Given the description of an element on the screen output the (x, y) to click on. 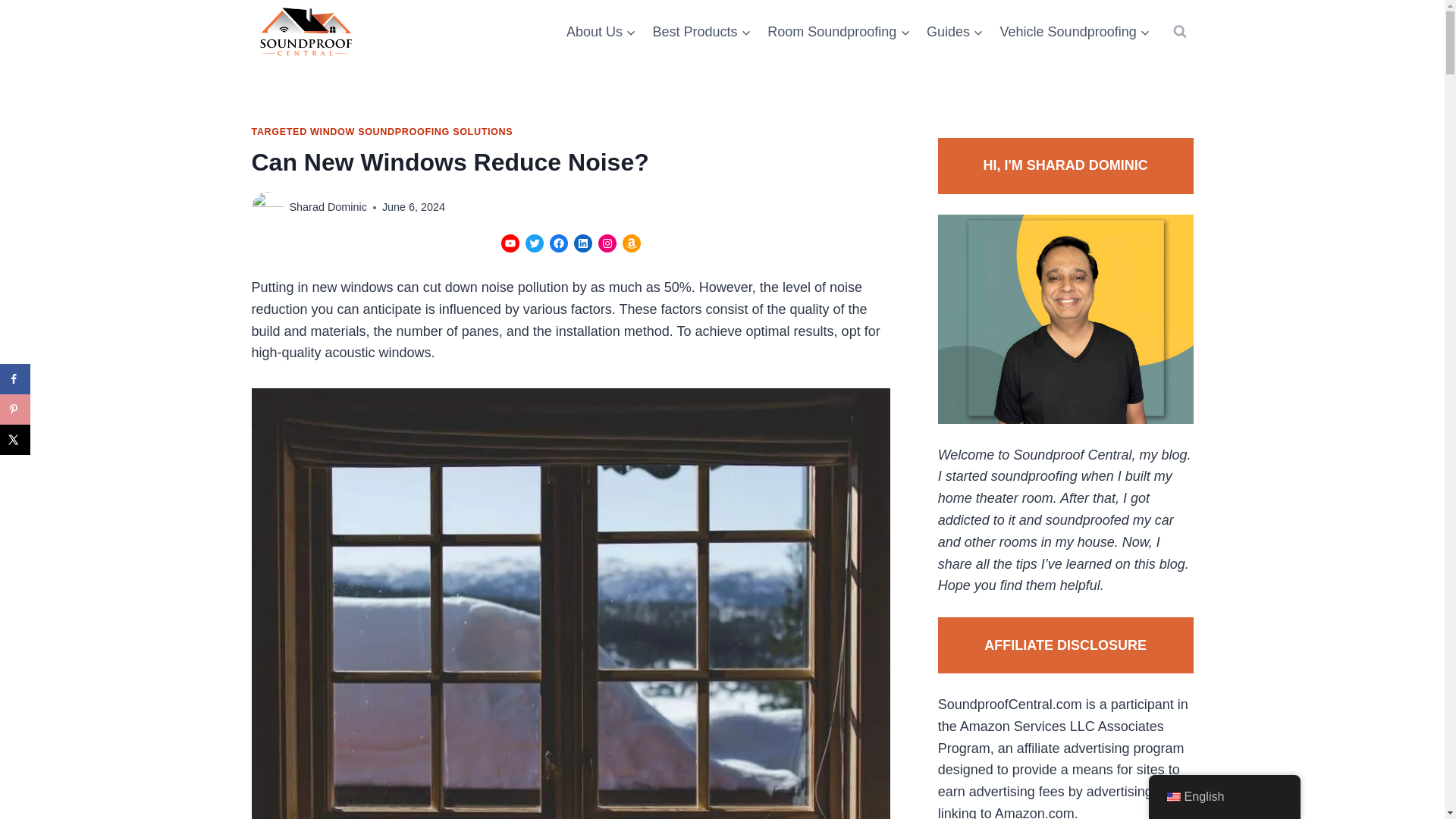
About Us (601, 31)
Best Products (702, 31)
YouTube (509, 243)
LinkedIn (582, 243)
Twitter (534, 243)
Room Soundproofing (838, 31)
English (1172, 796)
Vehicle Soundproofing (1074, 31)
TARGETED WINDOW SOUNDPROOFING SOLUTIONS (382, 131)
Guides (954, 31)
Facebook (558, 243)
Sharad Dominic (327, 206)
Share on X (15, 440)
Save to Pinterest (15, 409)
Instagram (606, 243)
